Given the description of an element on the screen output the (x, y) to click on. 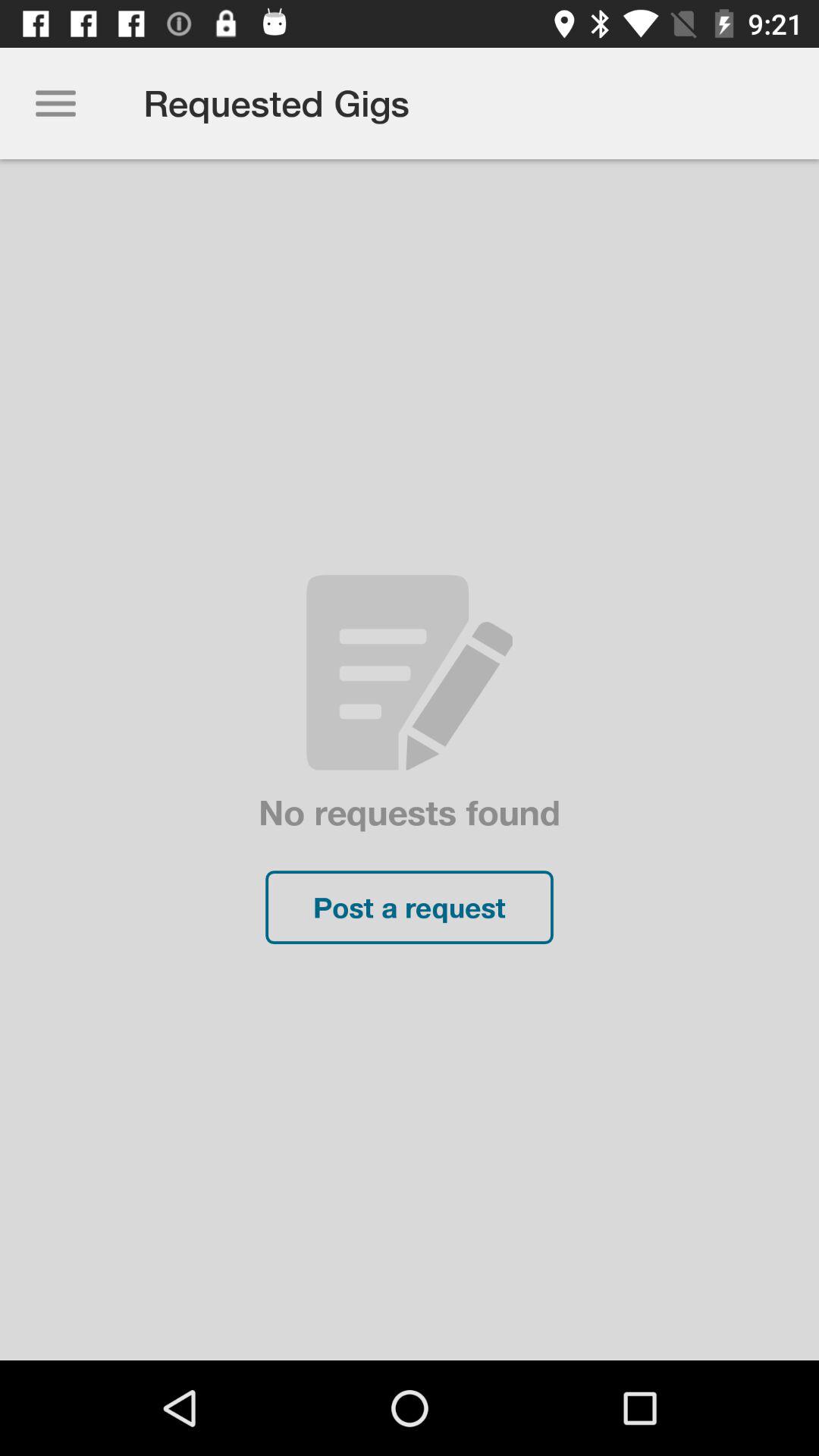
turn on icon above the no requests found icon (55, 103)
